Given the description of an element on the screen output the (x, y) to click on. 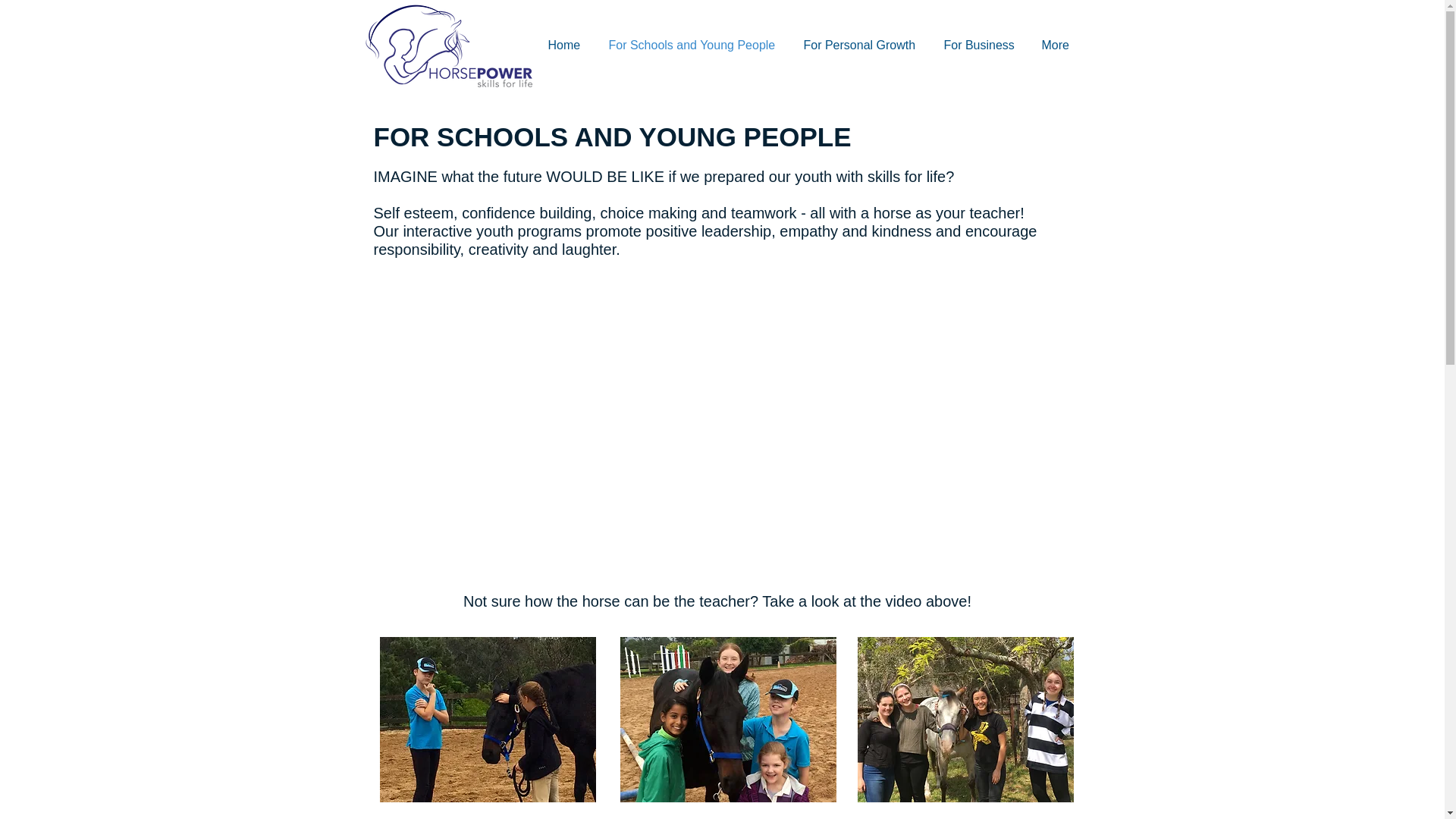
For Business Element type: text (984, 44)
For Schools and Young People Element type: text (697, 44)
Learning life skills Element type: hover (487, 719)
For Personal Growth Element type: text (866, 44)
Teamwork and trust Element type: hover (728, 719)
Home Element type: text (569, 44)
External YouTube Element type: hover (727, 426)
